Given the description of an element on the screen output the (x, y) to click on. 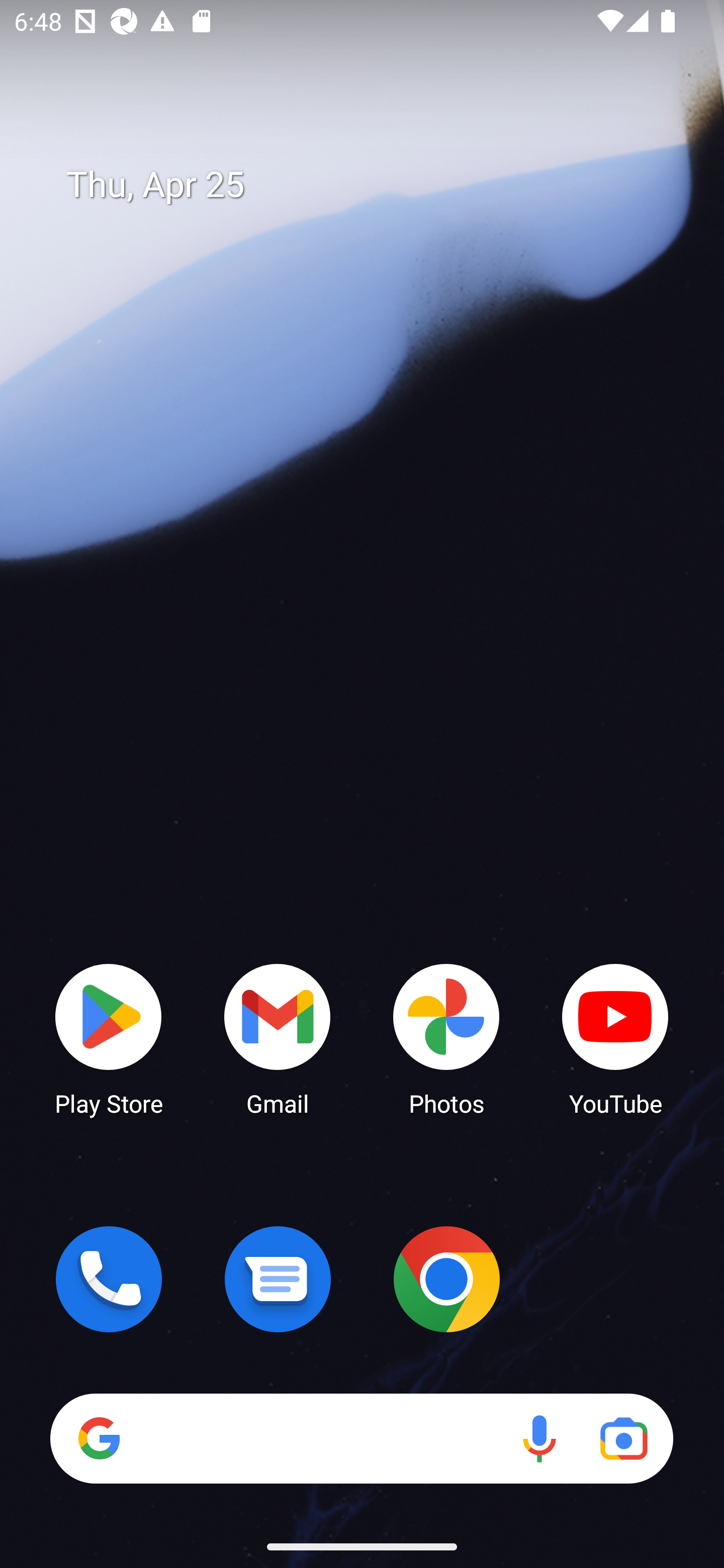
Thu, Apr 25 (375, 184)
Play Store (108, 1038)
Gmail (277, 1038)
Photos (445, 1038)
YouTube (615, 1038)
Phone (108, 1279)
Messages (277, 1279)
Chrome (446, 1279)
Search Voice search Google Lens (361, 1438)
Voice search (539, 1438)
Google Lens (623, 1438)
